Given the description of an element on the screen output the (x, y) to click on. 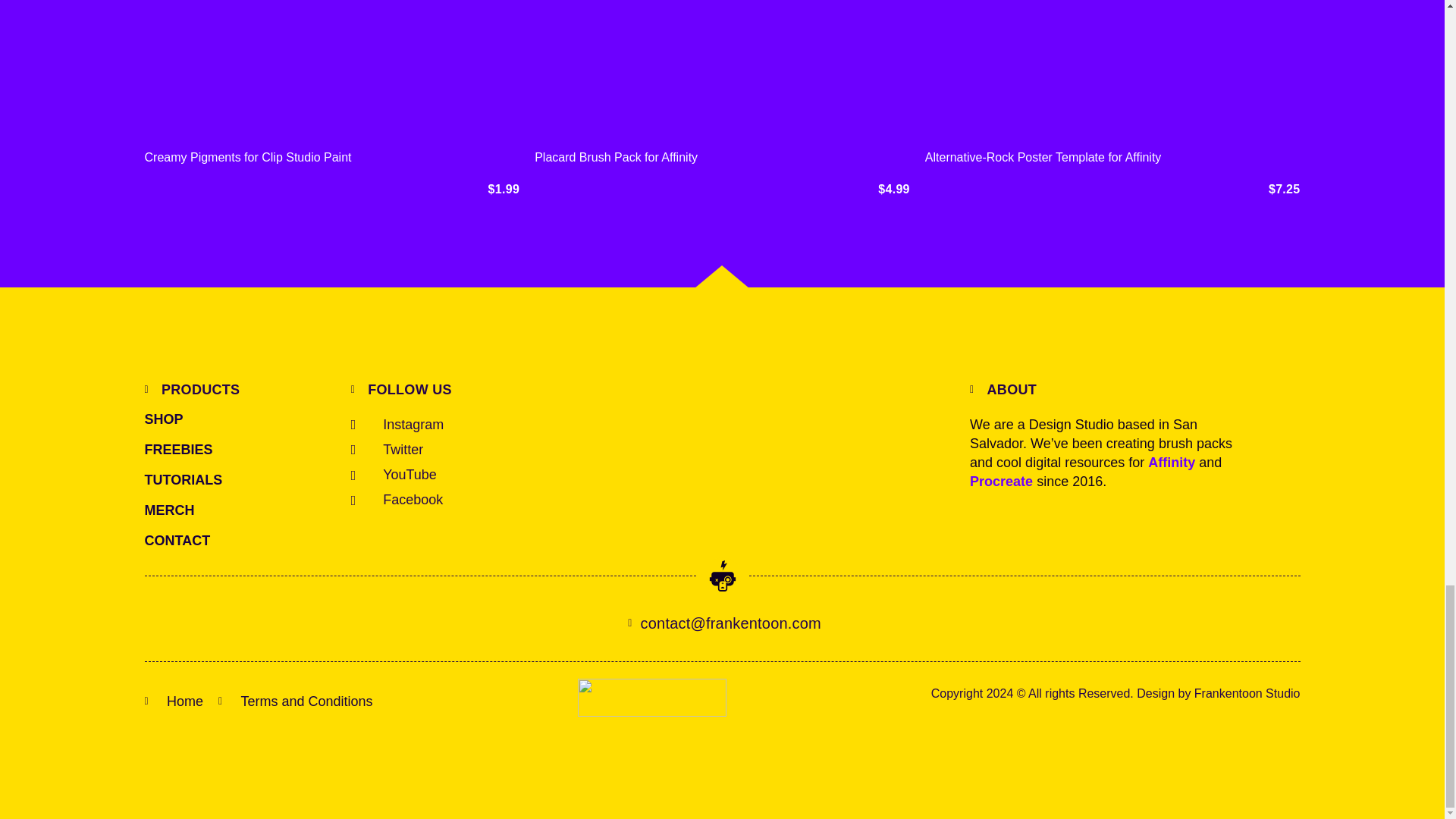
Placard Brush Pack for Affinity (615, 156)
Alternative-Rock Poster Template for Affinity (1042, 156)
Creamy Pigments for Clip Studio Paint (247, 156)
FREEBIES (183, 449)
SHOP (183, 419)
